Given the description of an element on the screen output the (x, y) to click on. 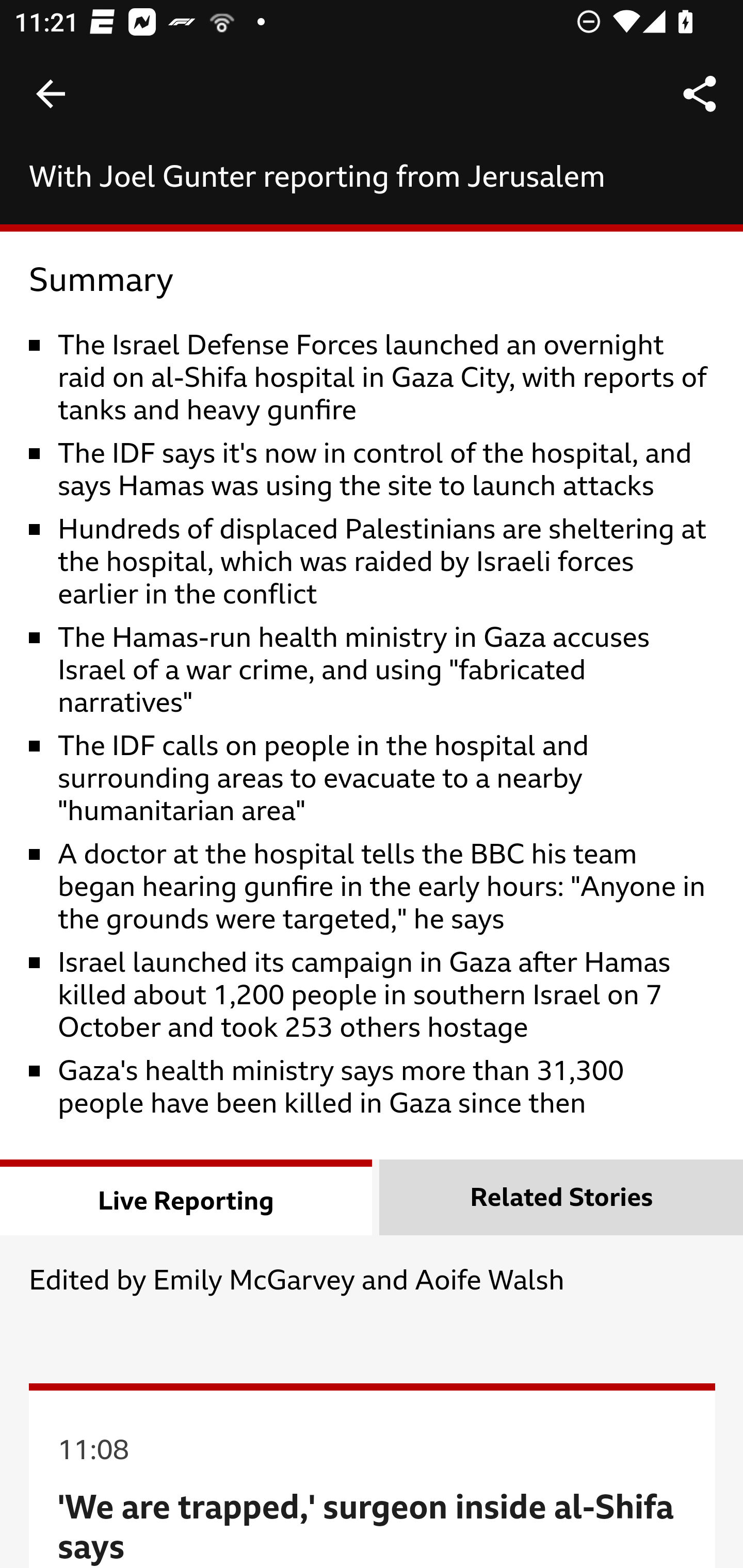
Back (50, 93)
Share (699, 93)
Live Reporting (186, 1199)
Related Stories (560, 1199)
